Given the description of an element on the screen output the (x, y) to click on. 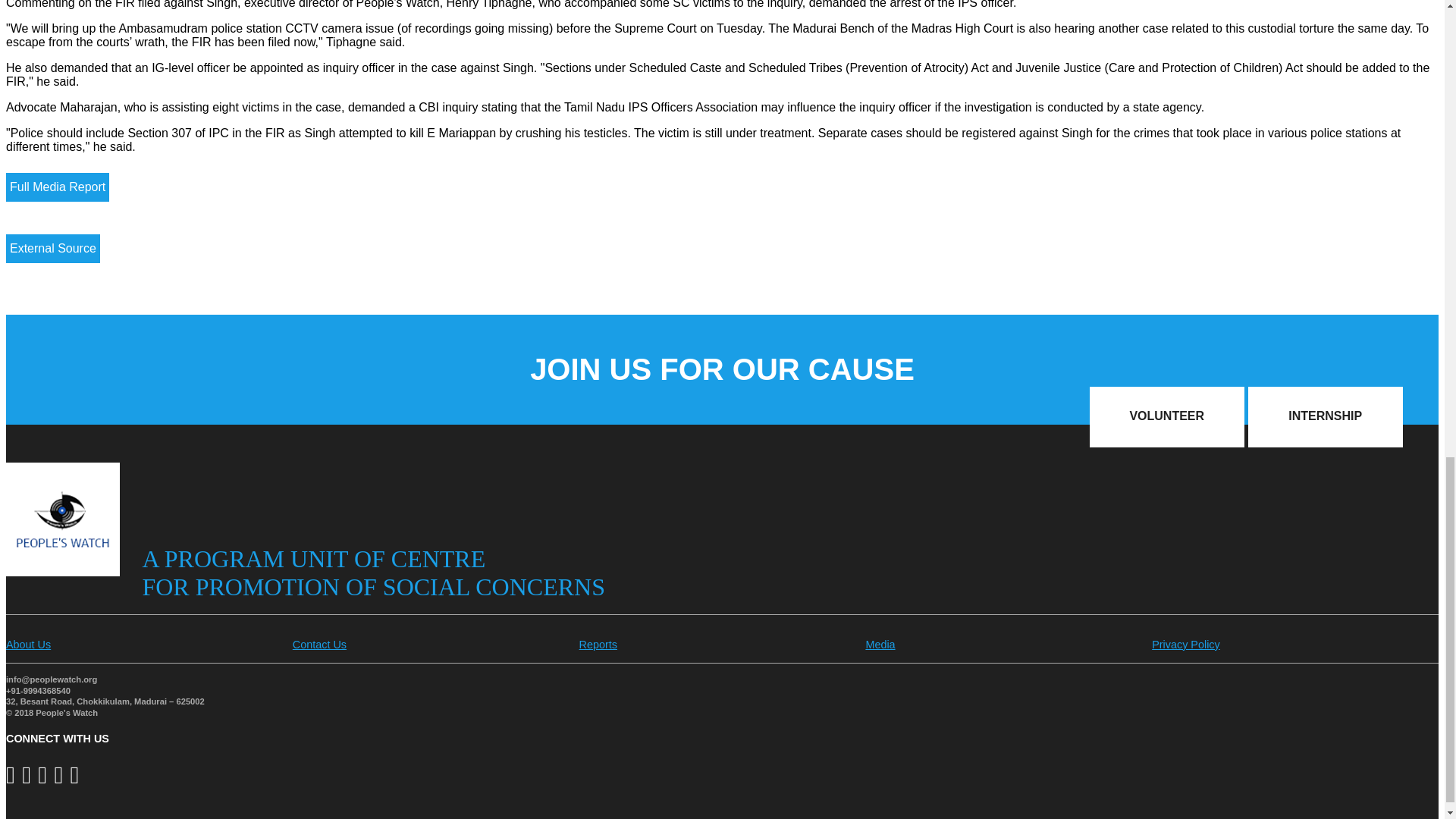
Home (62, 571)
Contact Us (319, 644)
Reports (598, 644)
Media (879, 644)
Privacy Policy (1185, 644)
Full Media Report (57, 187)
VOLUNTEER (1166, 416)
About Us (27, 644)
External Source (53, 248)
INTERNSHIP (1325, 416)
